Given the description of an element on the screen output the (x, y) to click on. 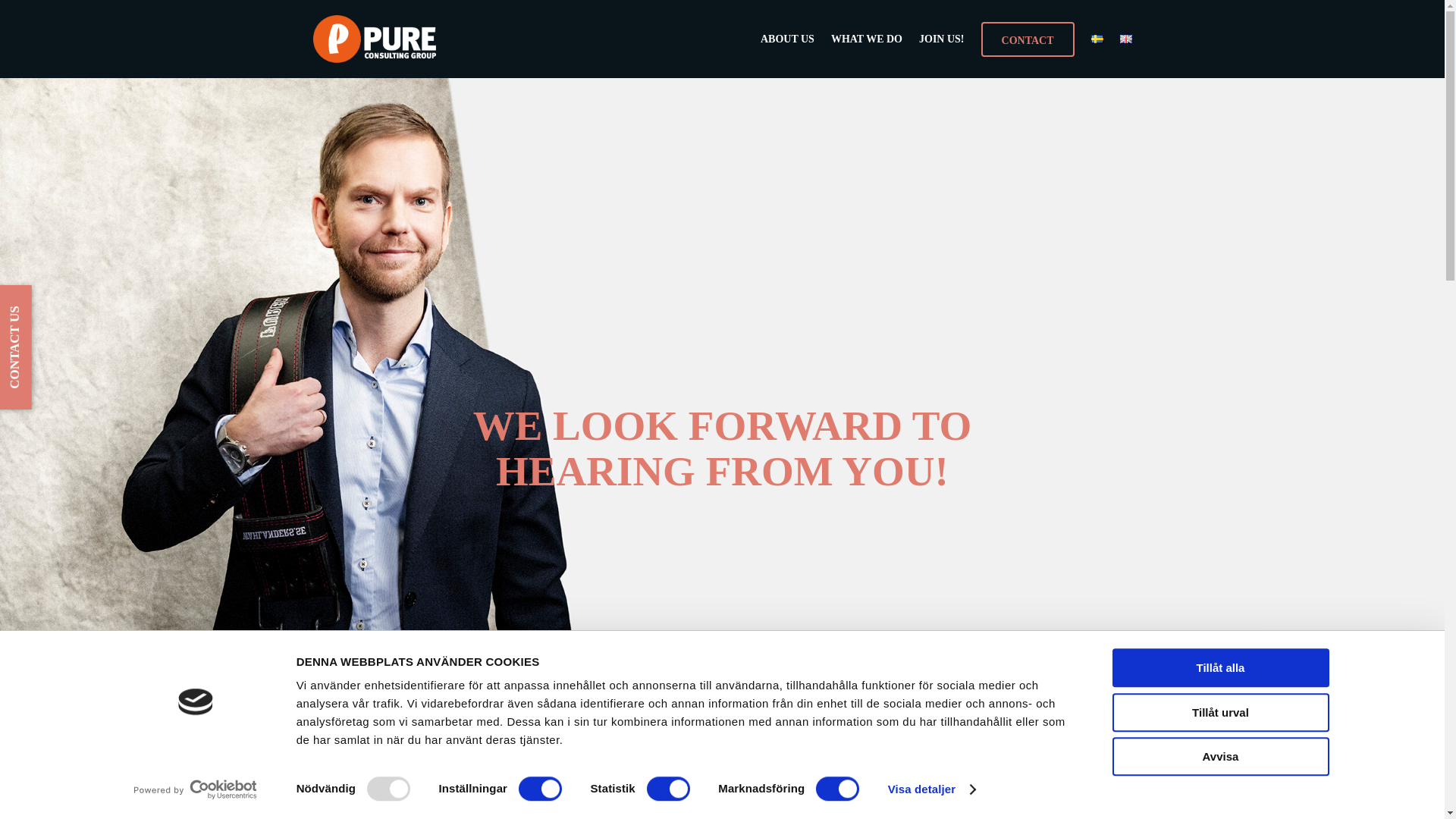
JOIN US! (940, 38)
Visa detaljer (931, 789)
WHAT WE DO (866, 38)
ABOUT US (786, 38)
CONTACT (1027, 39)
Avvisa (1219, 756)
